Given the description of an element on the screen output the (x, y) to click on. 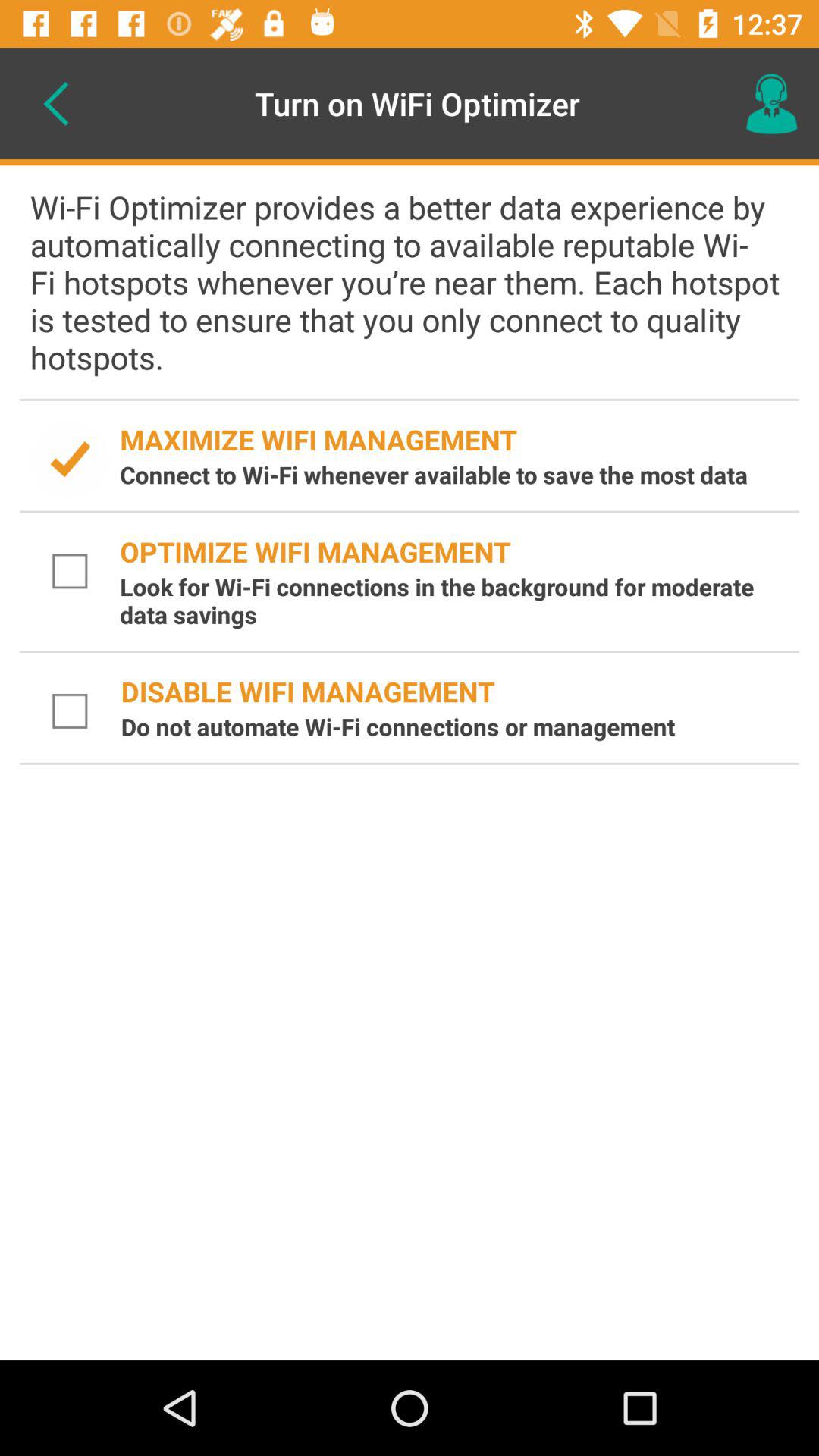
select item next to maximize wifi management item (69, 459)
